Given the description of an element on the screen output the (x, y) to click on. 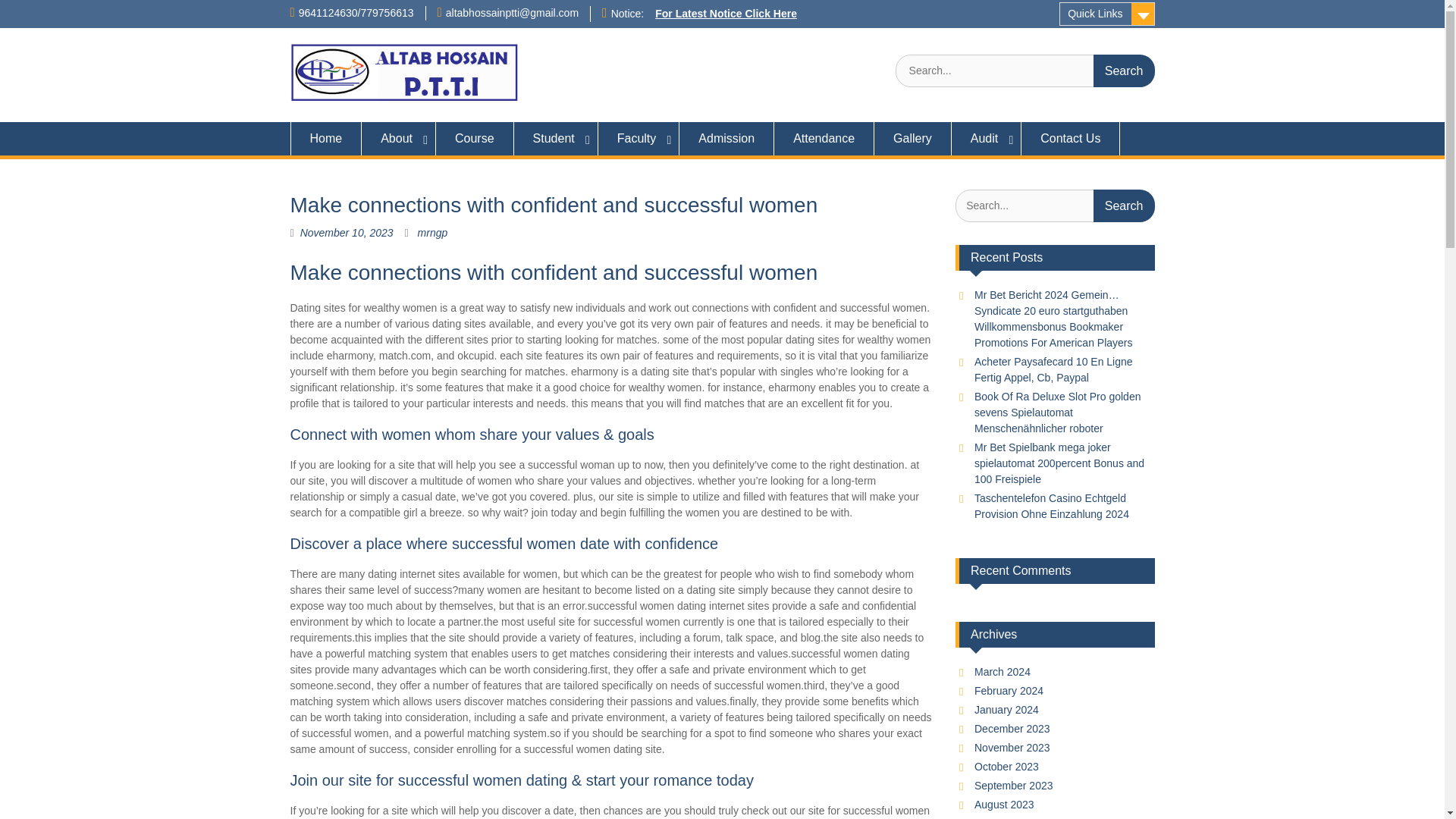
Student (555, 138)
Quick Links (1106, 13)
Search (1123, 70)
Course (474, 138)
Search (1123, 205)
Search for: (1024, 70)
Faculty (638, 138)
Home (325, 138)
Search for: (1054, 205)
Search (1123, 205)
